Given the description of an element on the screen output the (x, y) to click on. 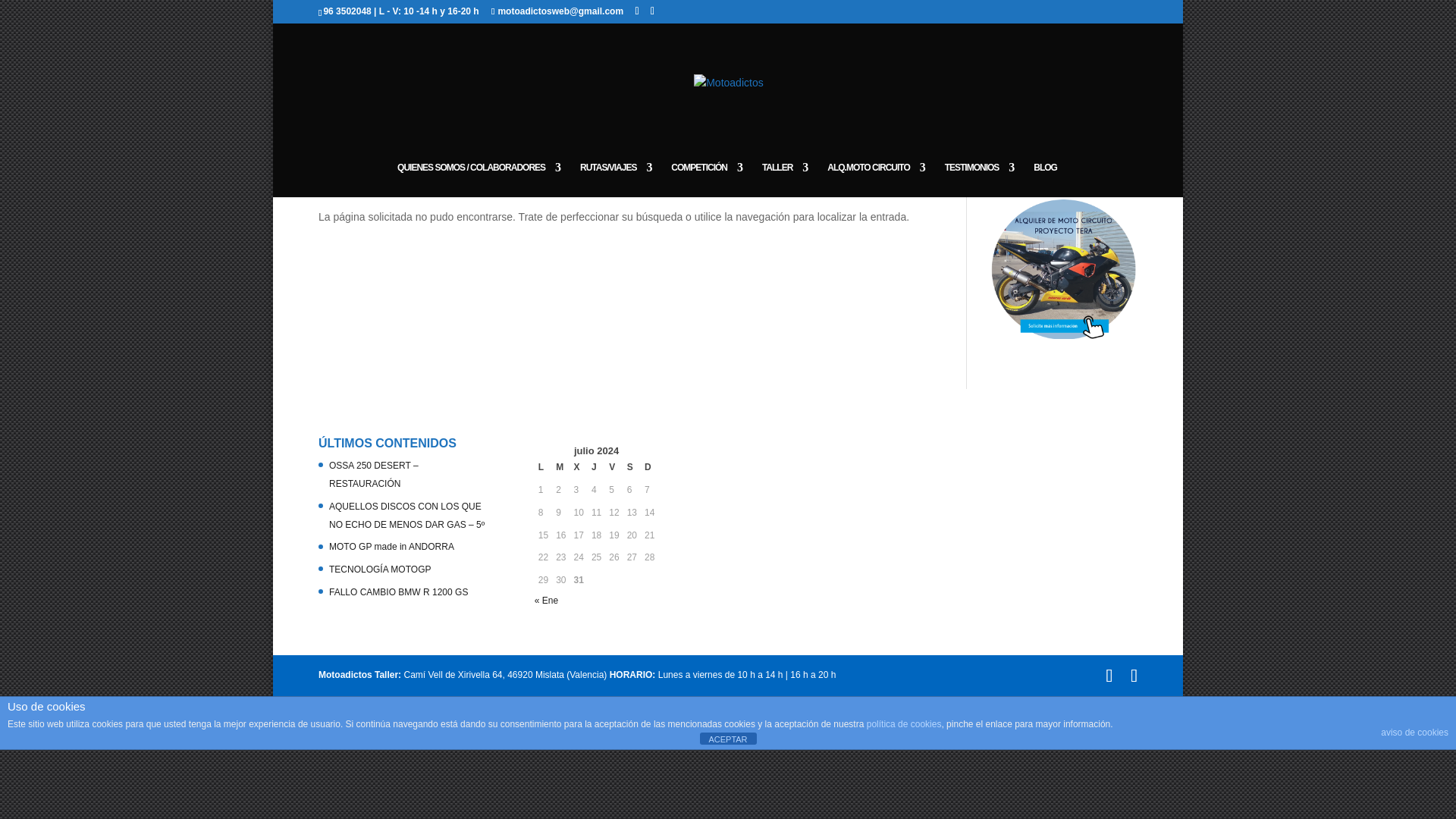
fb:page Facebook Social Plugin (836, 518)
TESTIMONIOS (979, 179)
ALQ.MOTO CIRCUITO (875, 179)
MOTO GP made in ANDORRA (391, 546)
TALLER (784, 179)
advertisement (1063, 269)
